Given the description of an element on the screen output the (x, y) to click on. 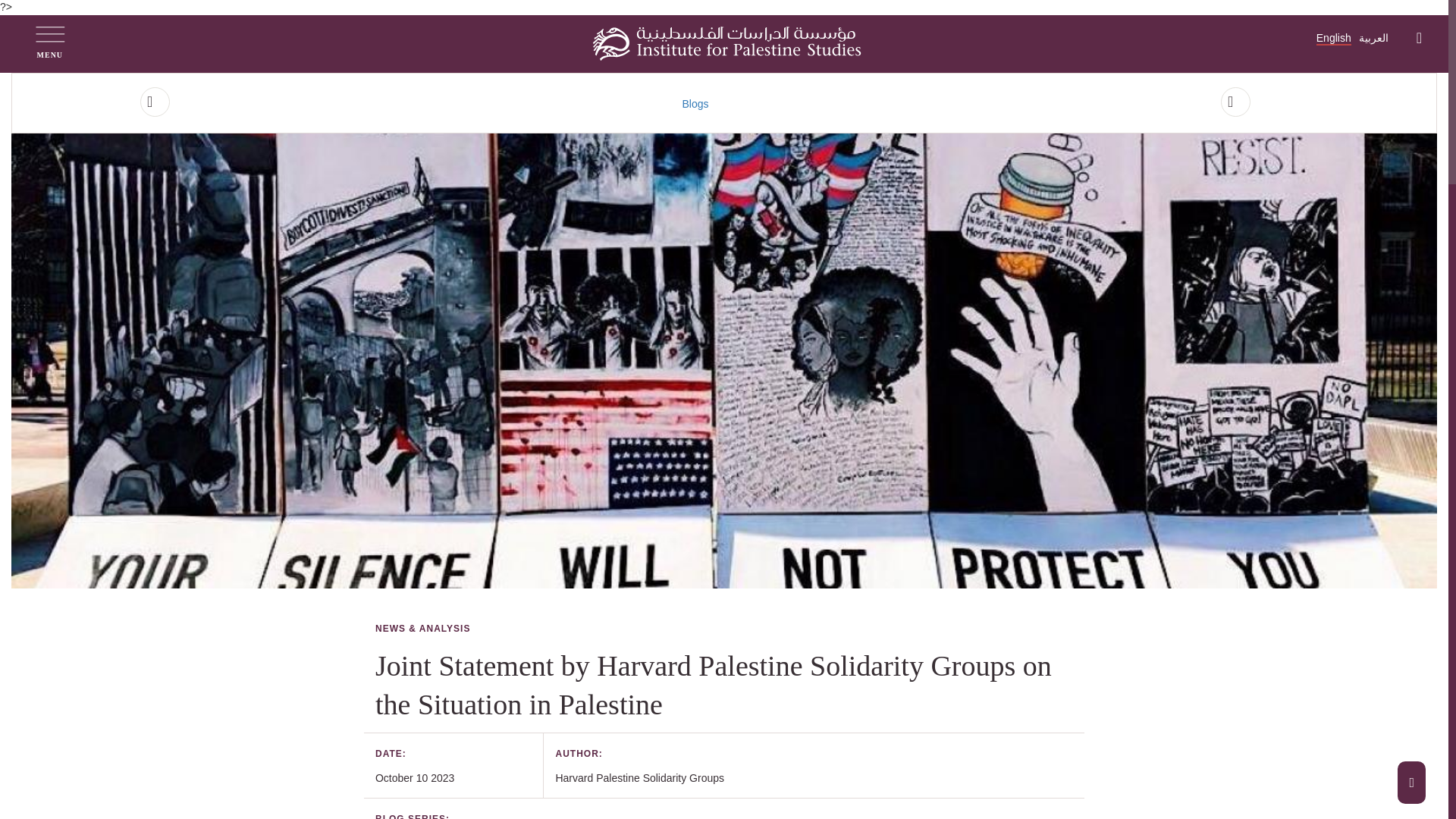
Blogs (694, 103)
Harvard Palestine Solidarity Groups (638, 777)
English (1333, 38)
